Given the description of an element on the screen output the (x, y) to click on. 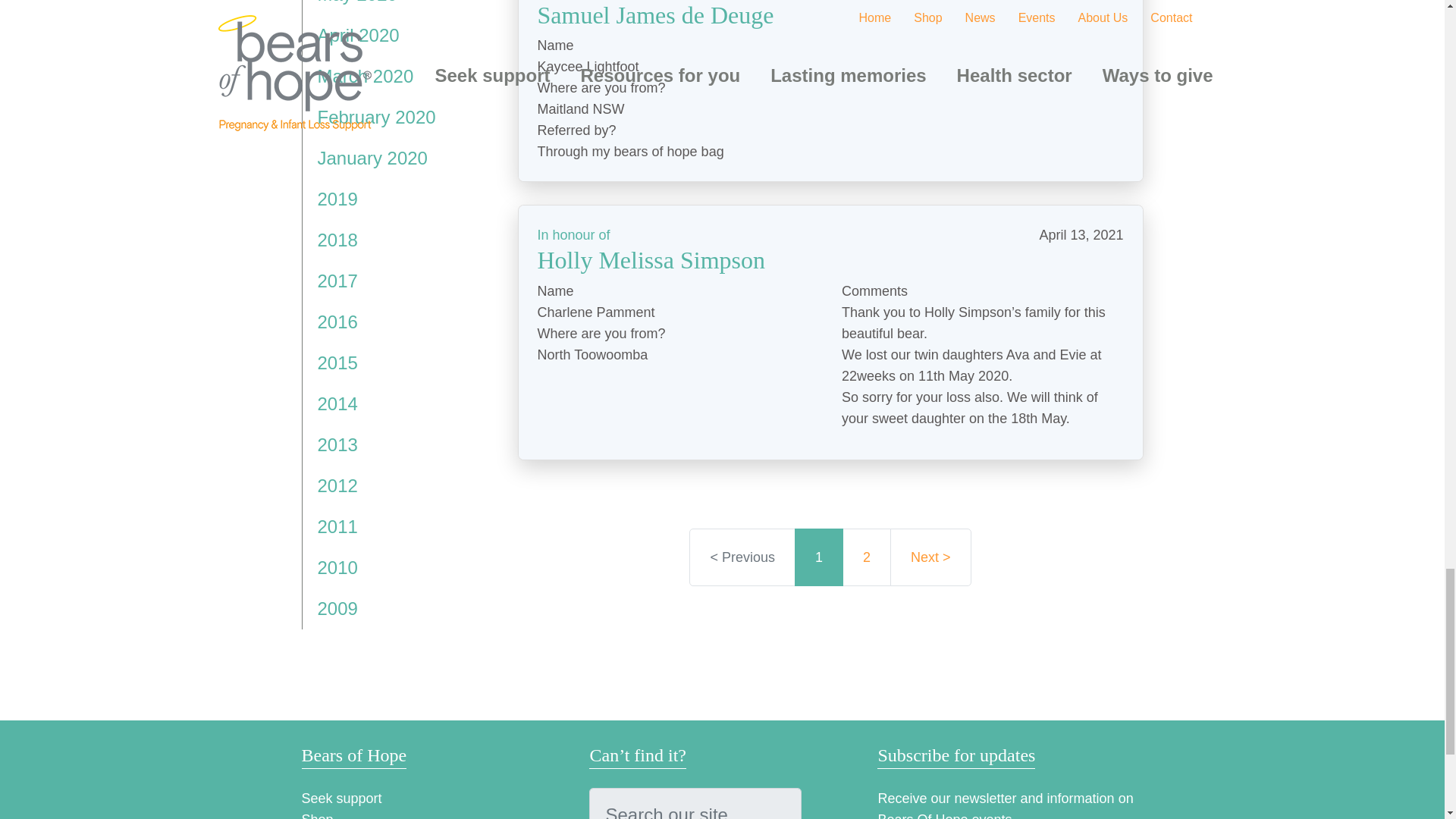
Search (774, 803)
Search (774, 803)
